Given the description of an element on the screen output the (x, y) to click on. 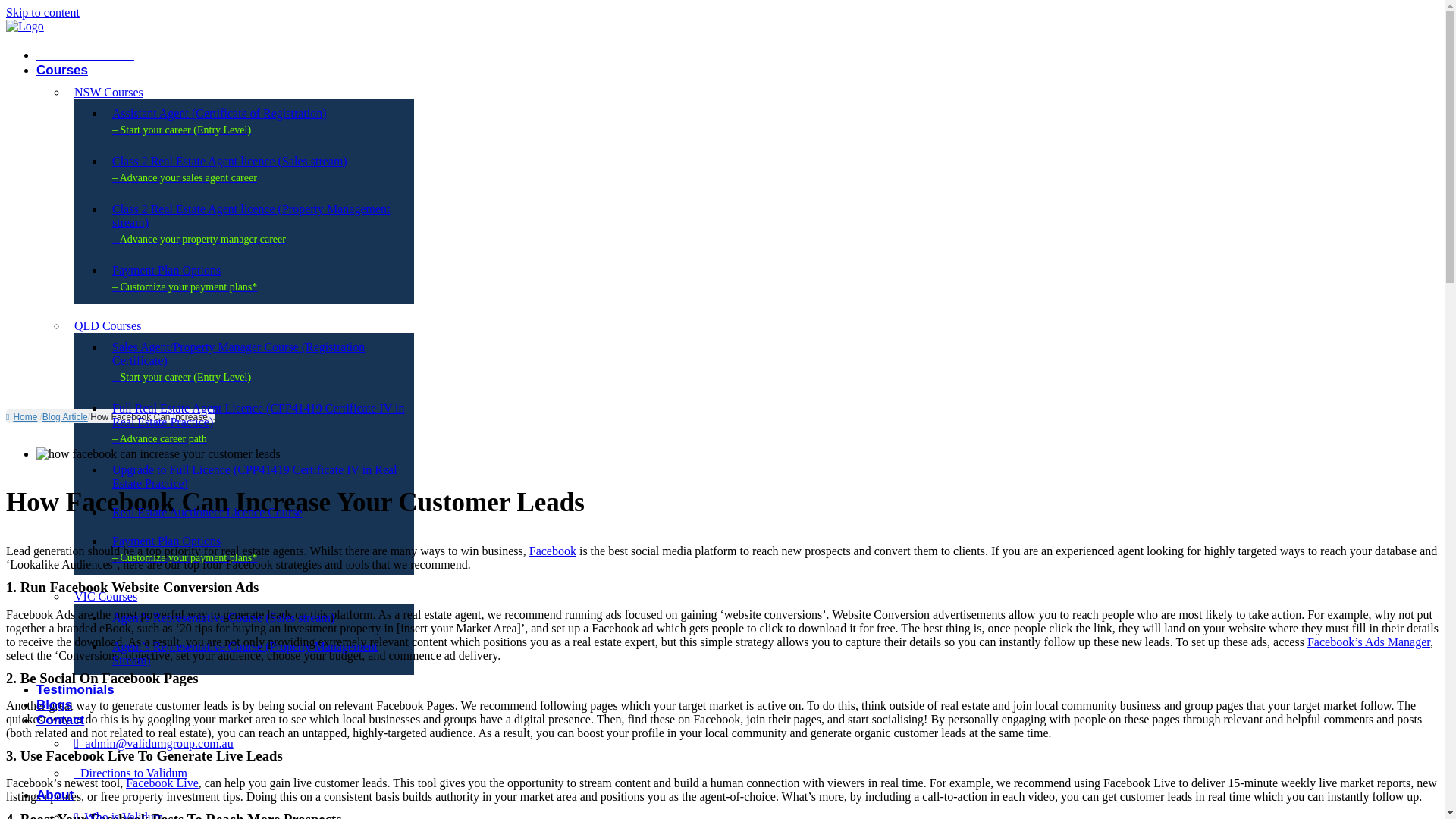
How Facebook Can Increase Your Customer Leads (152, 416)
VIC Courses (105, 595)
NSW Courses (108, 91)
Courses (61, 69)
Skip to content (42, 11)
Real Estate Auctioneer Licence Course (207, 512)
QLD Courses (107, 325)
Category Name (64, 416)
